Given the description of an element on the screen output the (x, y) to click on. 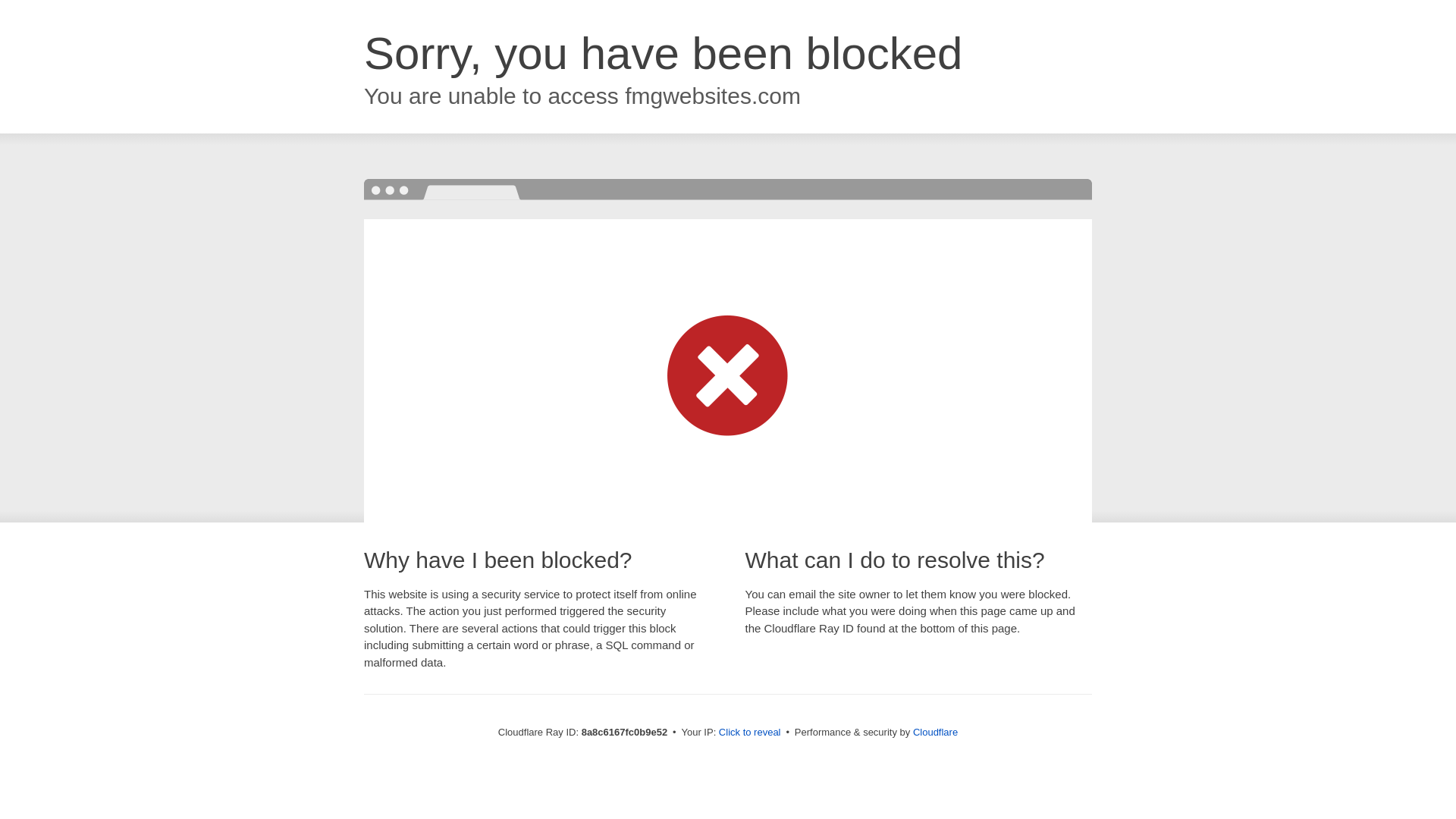
Cloudflare (935, 731)
Click to reveal (749, 732)
